Given the description of an element on the screen output the (x, y) to click on. 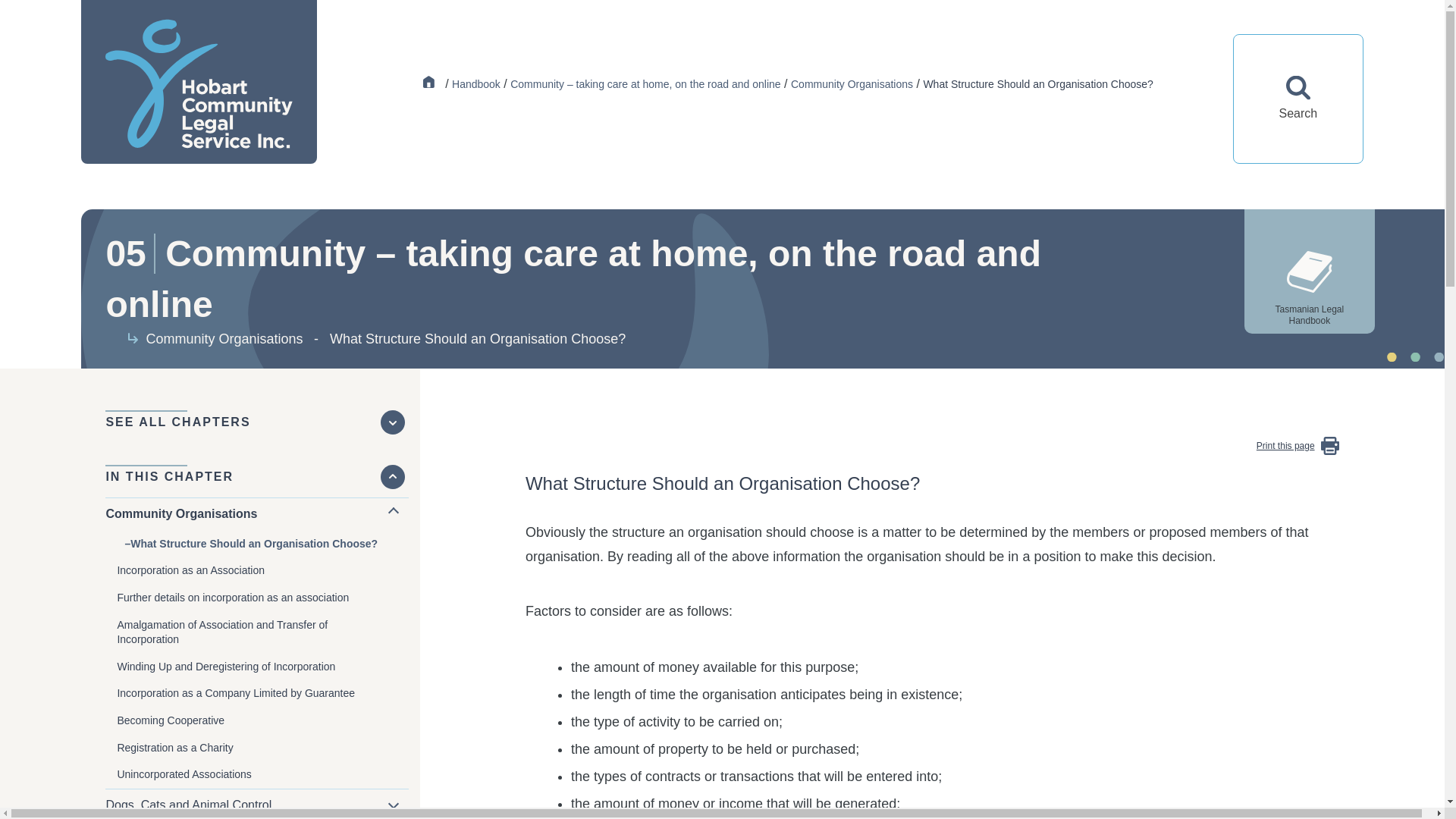
EXPAND CURRENT CHAPTER LIST BELOW (392, 476)
Handbook (475, 83)
What Structure Should an Organisation Choose? (261, 543)
Further details on incorporation as an association (261, 597)
Incorporation as an Association (261, 570)
EXPAND LIST OF CHAPTERS BELOW (392, 422)
Search (1297, 98)
Hobart Community Legal Service (432, 83)
Go to Hobart Community Legal Service. (432, 83)
Community Organisations (851, 83)
